Given the description of an element on the screen output the (x, y) to click on. 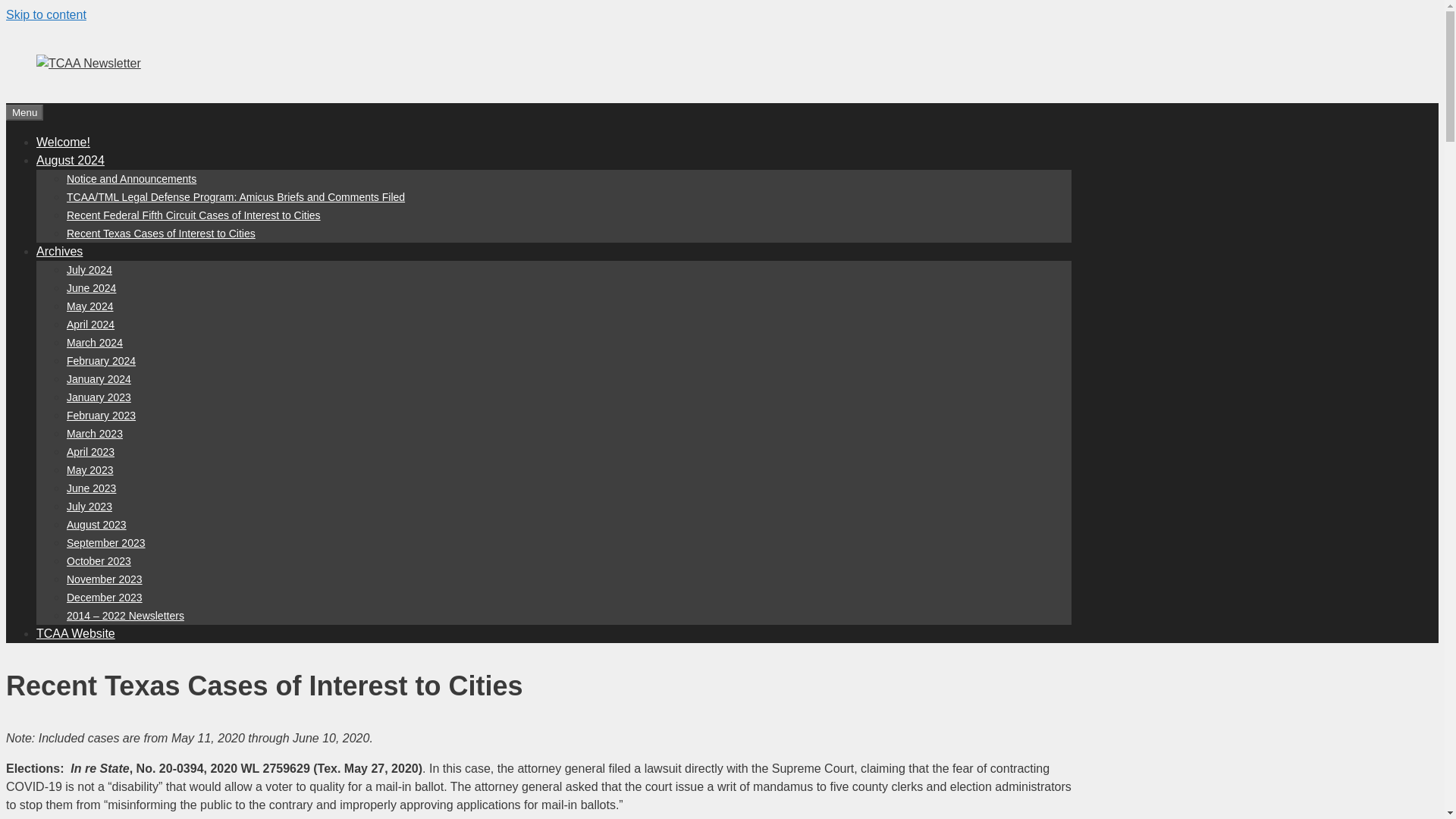
July 2023 (89, 506)
January 2024 (98, 378)
February 2023 (100, 415)
Recent Federal Fifth Circuit Cases of Interest to Cities (193, 215)
August 2023 (96, 524)
September 2023 (105, 542)
October 2023 (98, 561)
Recent Texas Cases of Interest to Cities (161, 233)
March 2023 (94, 433)
November 2023 (104, 579)
